Given the description of an element on the screen output the (x, y) to click on. 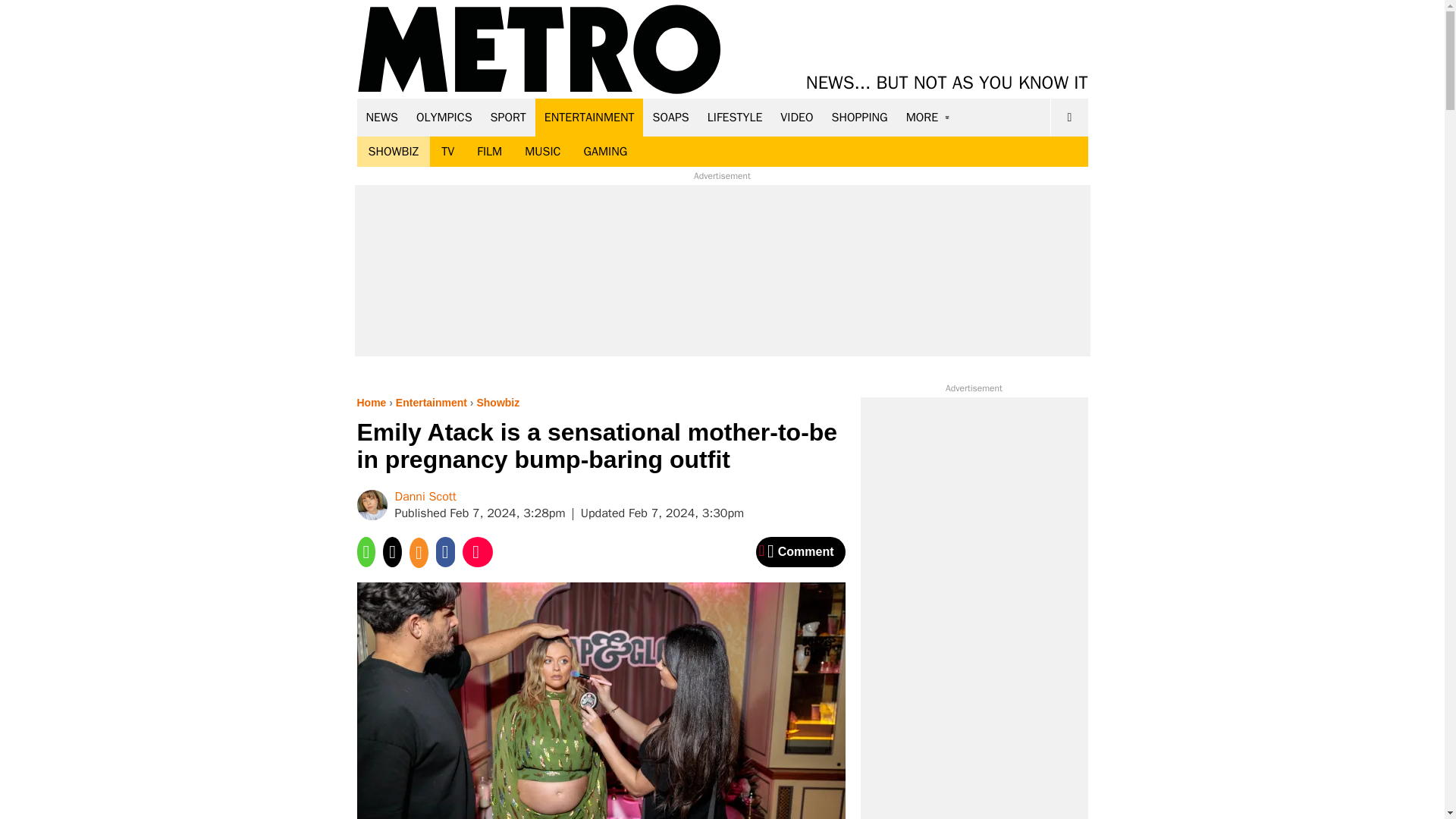
SOAPS (670, 117)
FILM (489, 151)
TV (447, 151)
GAMING (605, 151)
OLYMPICS (444, 117)
MUSIC (542, 151)
ENTERTAINMENT (589, 117)
Metro (539, 50)
SPORT (508, 117)
LIFESTYLE (734, 117)
